Given the description of an element on the screen output the (x, y) to click on. 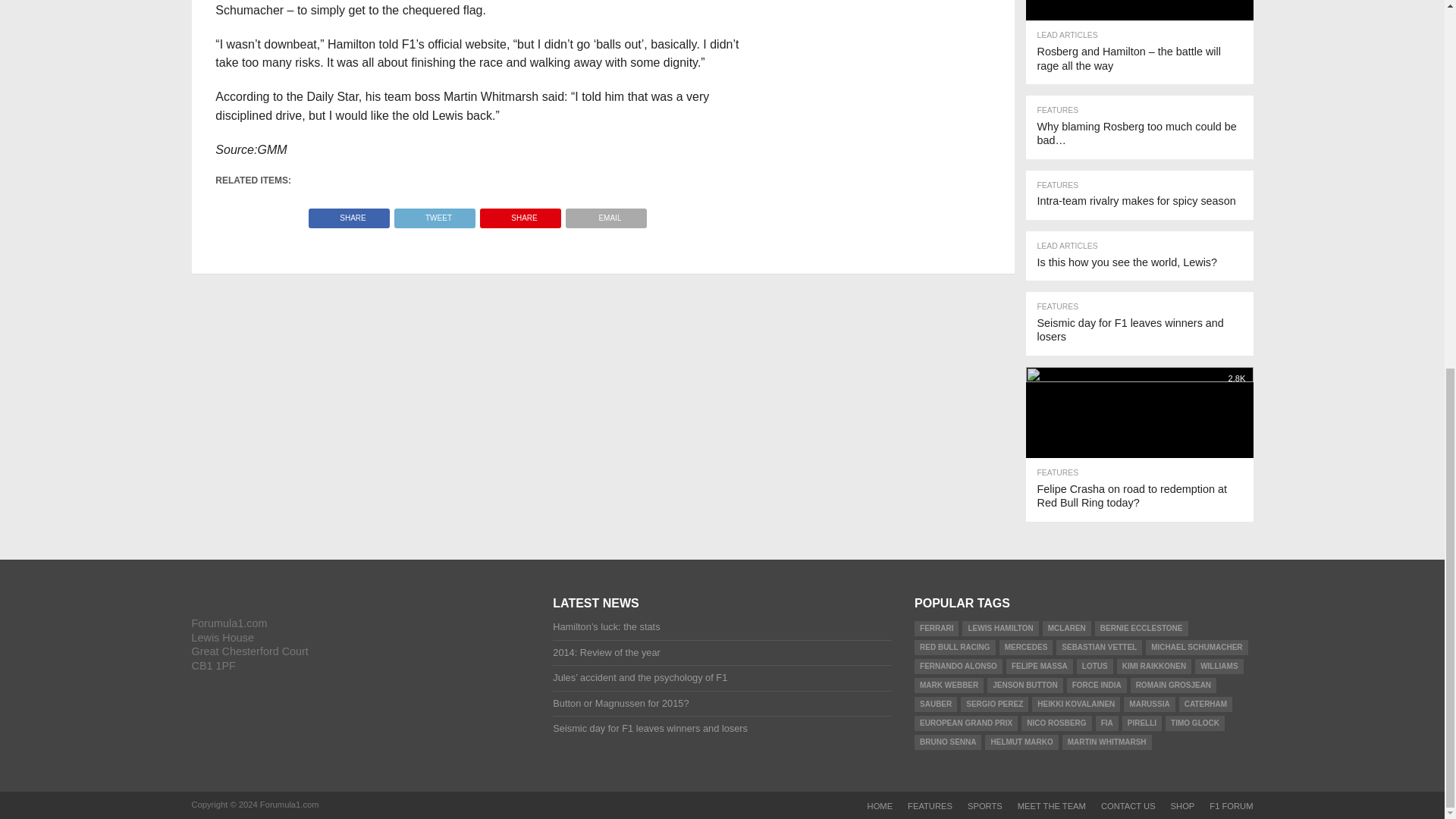
Tweet This Post (434, 214)
Pin This Post (520, 214)
Share on Facebook (349, 214)
